Given the description of an element on the screen output the (x, y) to click on. 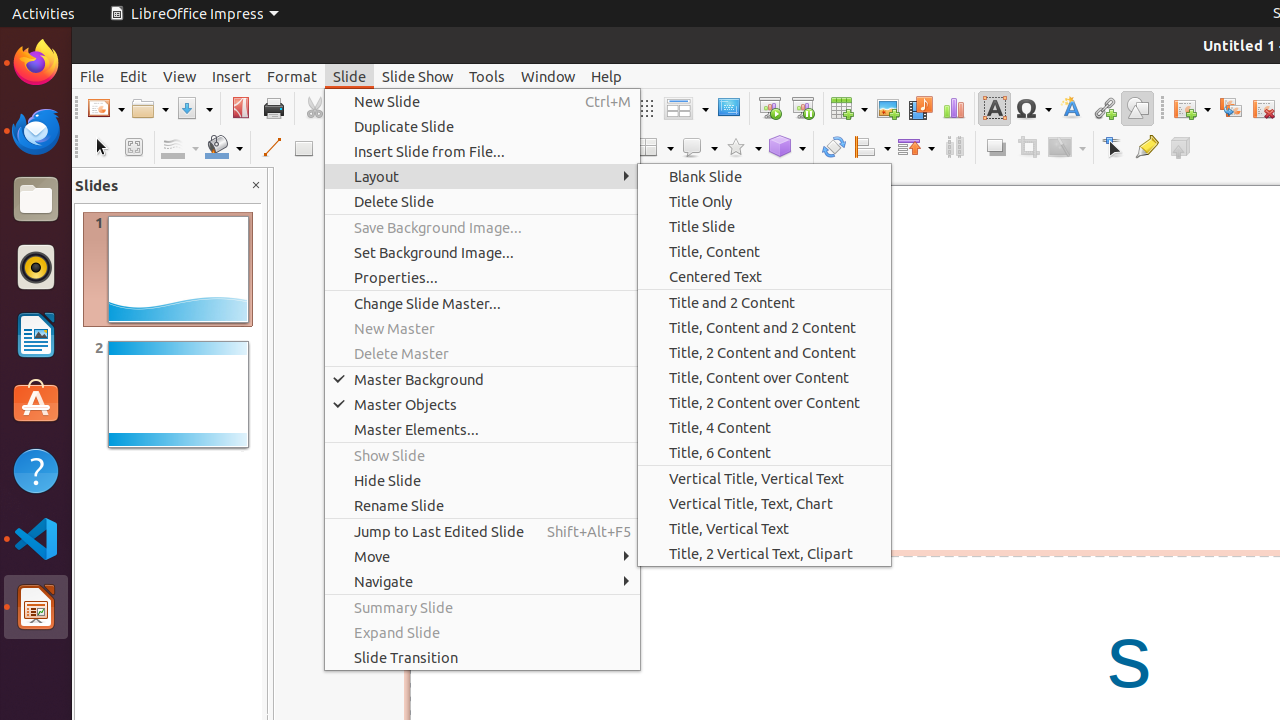
Layout Element type: menu (482, 176)
Files Element type: push-button (36, 199)
New Master Element type: menu-item (482, 328)
Properties... Element type: menu-item (482, 277)
